Given the description of an element on the screen output the (x, y) to click on. 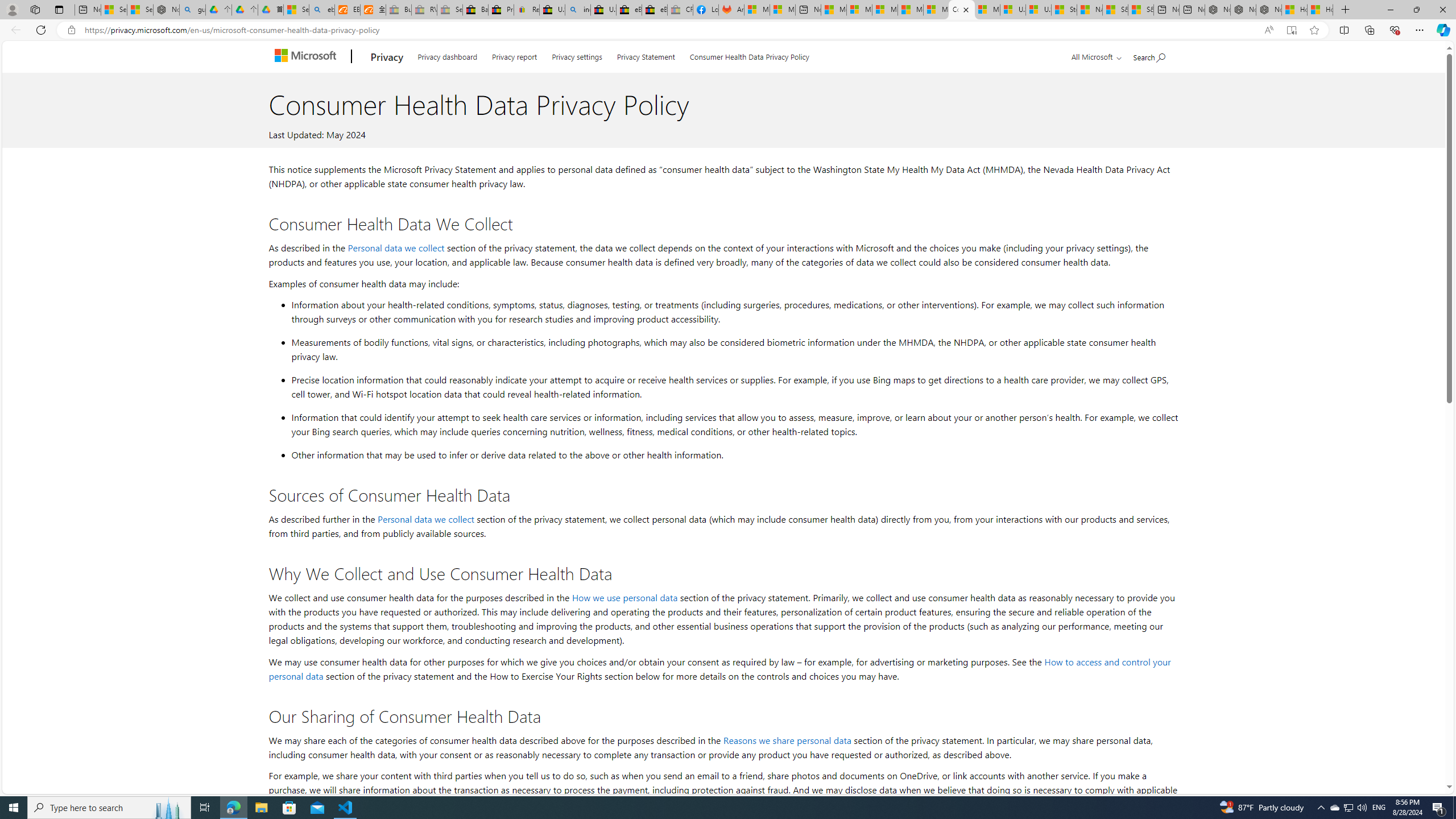
Privacy dashboard (447, 54)
Sell worldwide with eBay - Sleeping (449, 9)
Privacy Statement (645, 54)
Privacy report (514, 54)
Reasons we share personal data (786, 739)
